Given the description of an element on the screen output the (x, y) to click on. 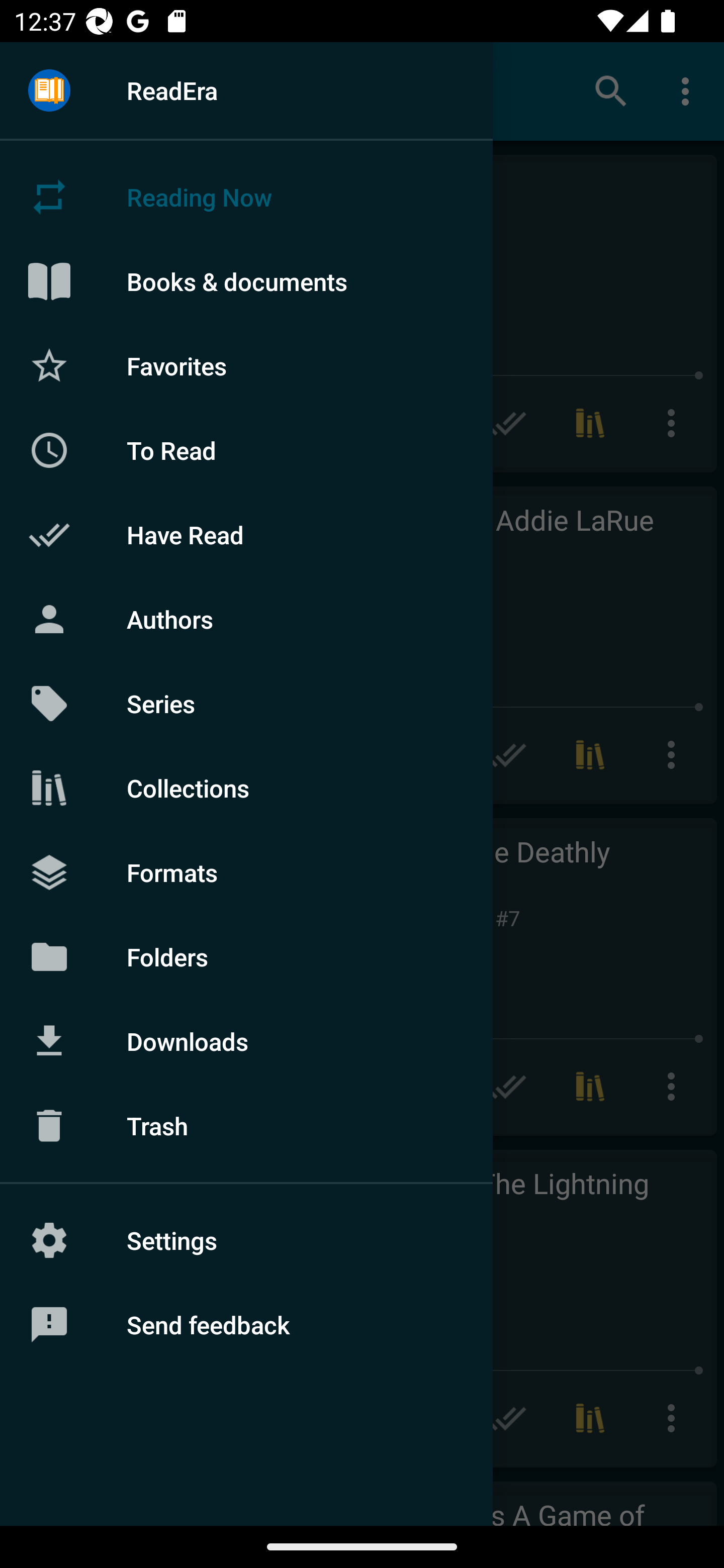
Menu (49, 91)
ReadEra (246, 89)
Search books & documents (611, 90)
More options (688, 90)
Reading Now (246, 197)
Books & documents (246, 281)
Favorites (246, 365)
To Read (246, 449)
Have Read (246, 534)
Authors (246, 619)
Series (246, 703)
Collections (246, 787)
Formats (246, 871)
Folders (246, 956)
Downloads (246, 1040)
Trash (246, 1125)
Settings (246, 1239)
Send feedback (246, 1324)
